Given the description of an element on the screen output the (x, y) to click on. 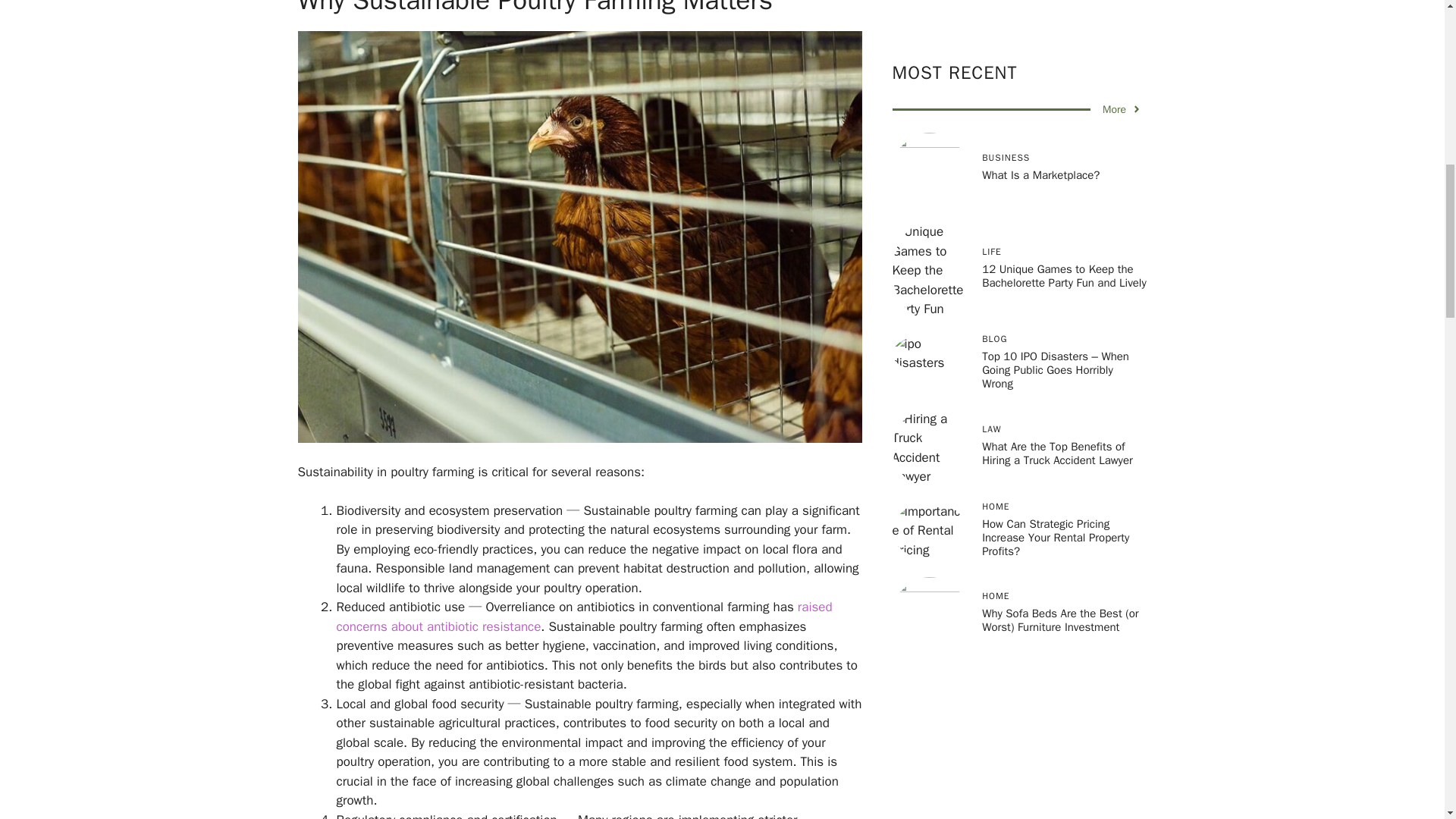
raised concerns about antibiotic resistance (584, 616)
